Given the description of an element on the screen output the (x, y) to click on. 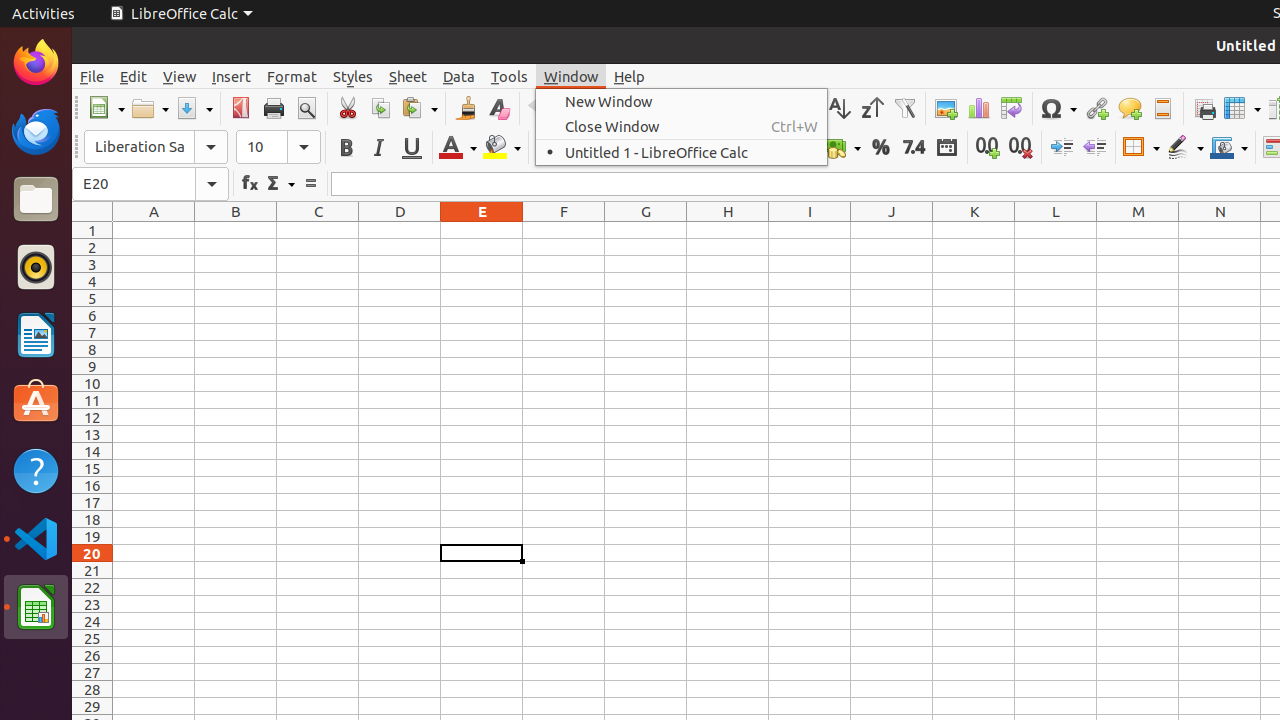
Freeze Rows and Columns Element type: push-button (1242, 108)
H1 Element type: table-cell (728, 230)
G1 Element type: table-cell (646, 230)
D1 Element type: table-cell (400, 230)
Image Element type: push-button (945, 108)
